Given the description of an element on the screen output the (x, y) to click on. 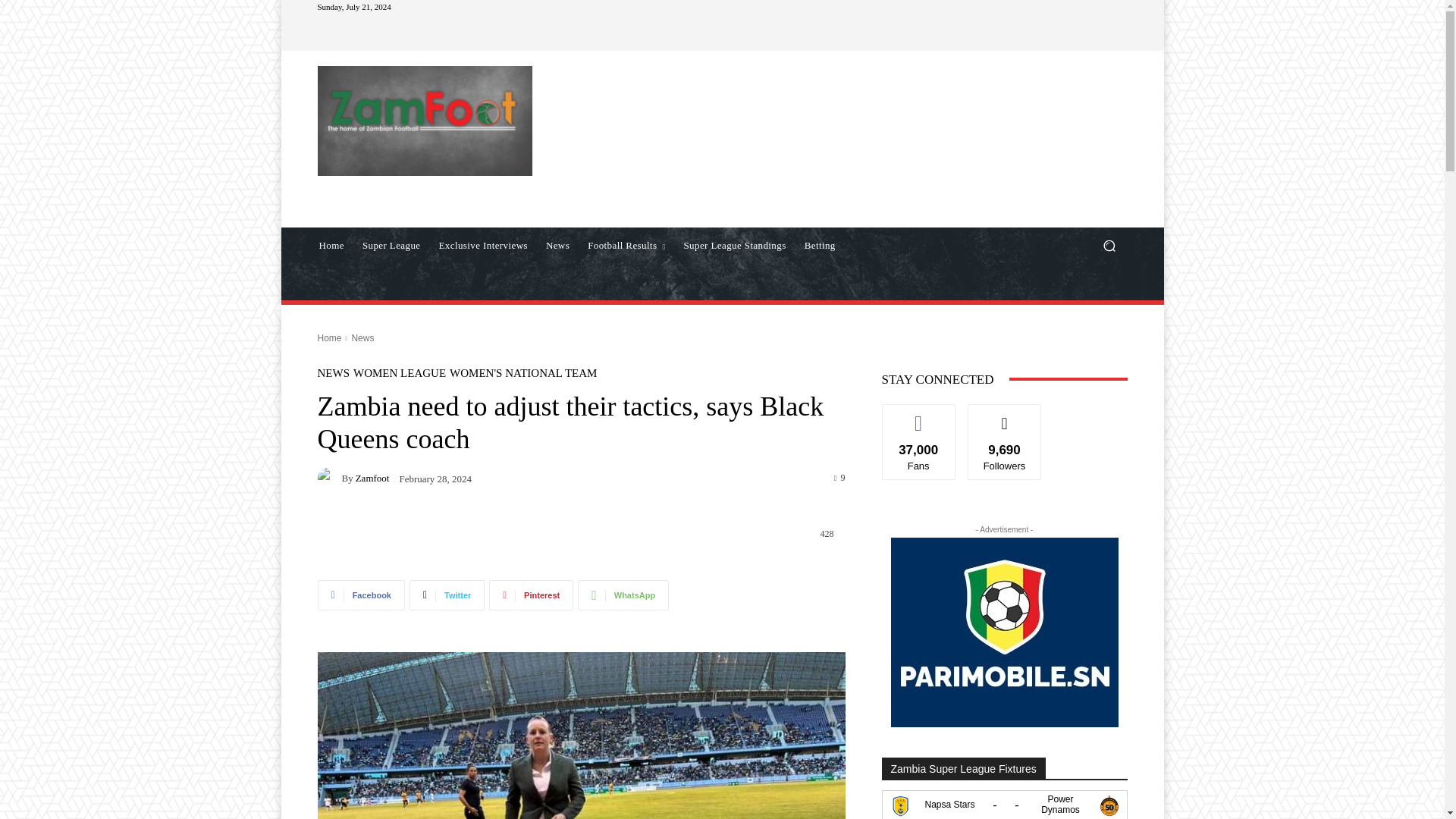
WOMEN LEAGUE (399, 373)
News (557, 245)
Exclusive Interviews (483, 245)
View all posts in News (362, 337)
WOMEN'S NATIONAL TEAM (522, 373)
News (362, 337)
Facebook (360, 594)
Betting (819, 245)
9 (839, 476)
Football Results (626, 245)
Zamfoot (372, 478)
Super League Standings (734, 245)
NEWS (333, 373)
WhatsApp (623, 594)
Pinterest (531, 594)
